Given the description of an element on the screen output the (x, y) to click on. 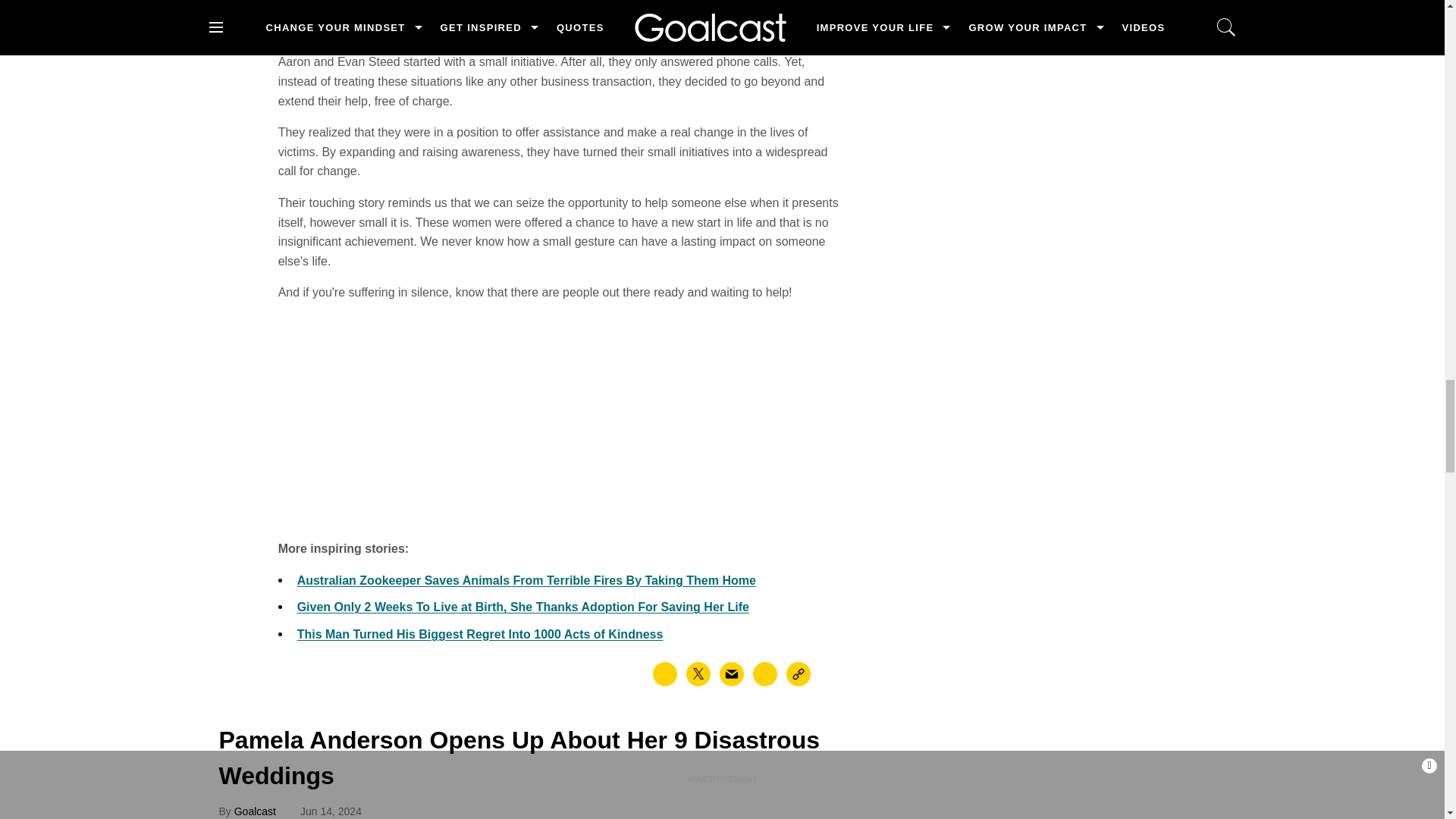
Copy this link to clipboard (798, 673)
